Given the description of an element on the screen output the (x, y) to click on. 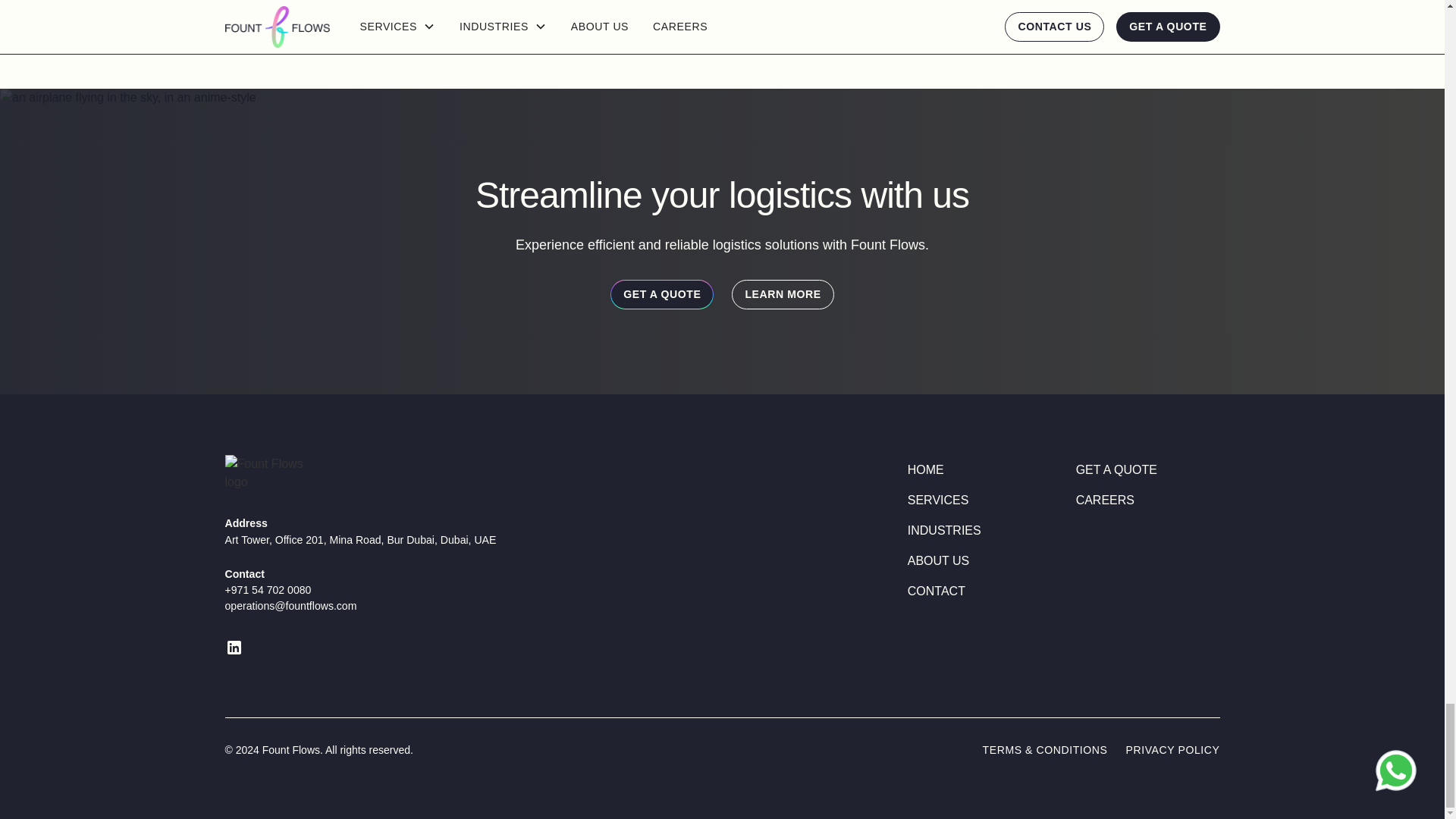
Art Tower, Office 201, Mina Road, Bur Dubai, Dubai, UAE (536, 539)
INDUSTRIES (944, 530)
ABOUT US (938, 561)
GET A QUOTE (661, 294)
CAREERS (1104, 500)
GET A QUOTE (1116, 470)
CONTACT (936, 591)
HOME (925, 470)
SERVICES (938, 500)
LEARN MORE (782, 294)
